Given the description of an element on the screen output the (x, y) to click on. 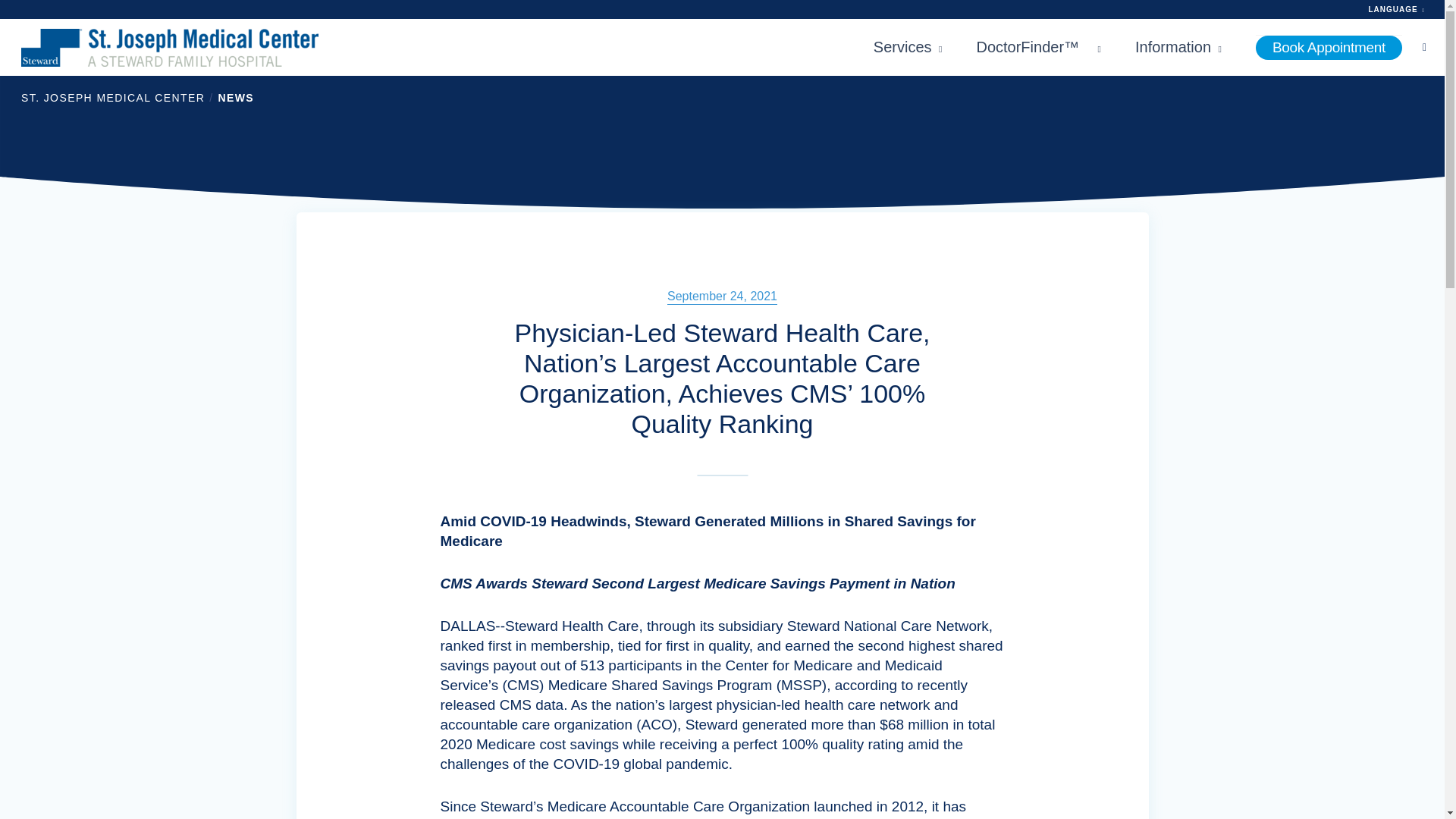
NEWS (234, 97)
Book Appointment (1328, 47)
Services (907, 46)
Information (1178, 46)
